Given the description of an element on the screen output the (x, y) to click on. 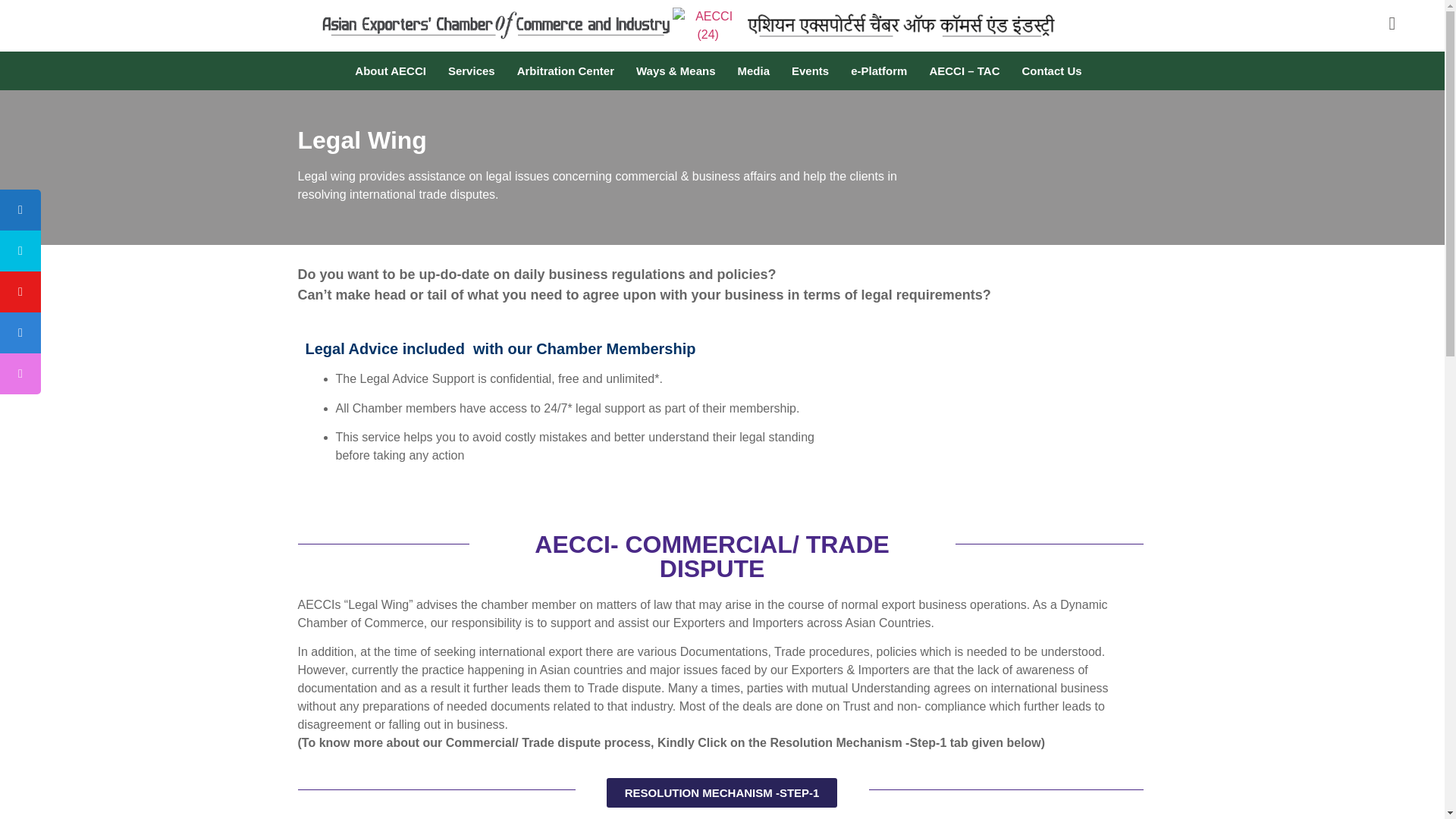
About AECCI (394, 70)
Services (475, 70)
